Given the description of an element on the screen output the (x, y) to click on. 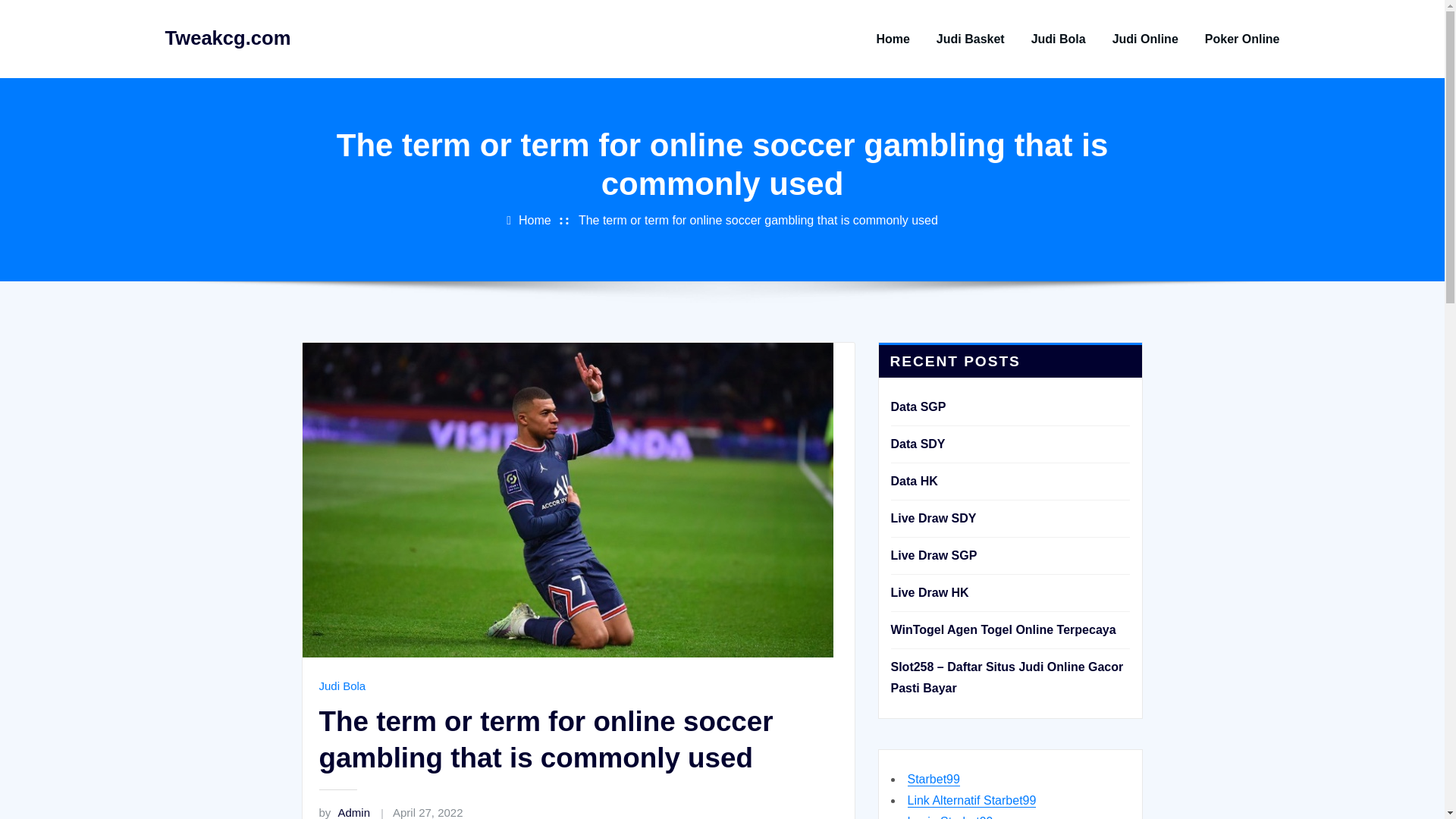
Judi Basket (970, 38)
Home (534, 219)
by Admin (343, 812)
Judi Bola (341, 685)
Login Starbet99 (949, 816)
Starbet99 (933, 779)
Live Draw SDY (932, 517)
April 27, 2022 (428, 812)
Link Alternatif Starbet99 (971, 799)
Live Draw SGP (932, 554)
WinTogel Agen Togel Online Terpecaya (1002, 629)
Live Draw HK (928, 592)
Home (892, 38)
Data HK (913, 481)
Data SGP (916, 406)
